Given the description of an element on the screen output the (x, y) to click on. 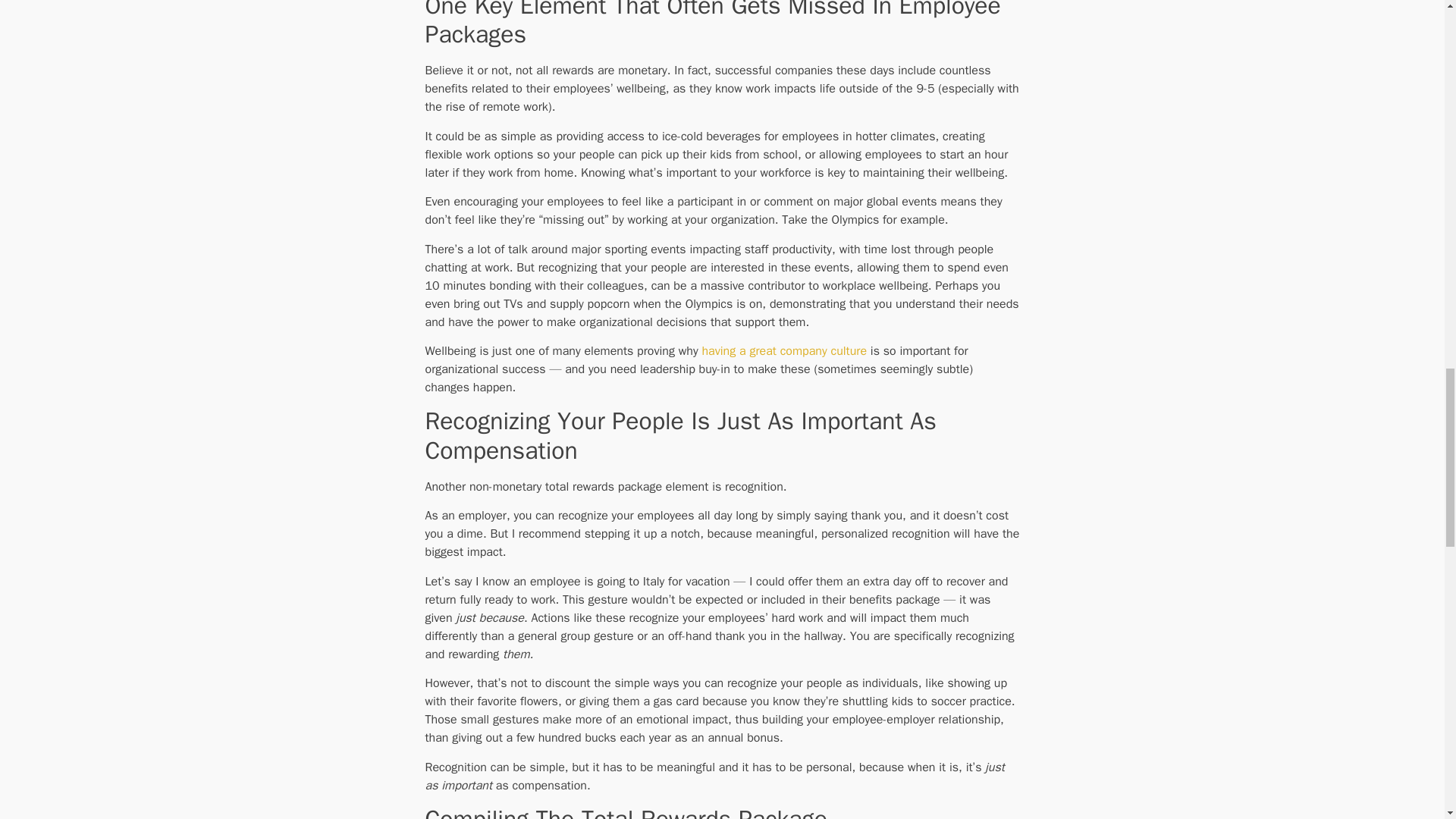
having a great company culture (783, 350)
